Given the description of an element on the screen output the (x, y) to click on. 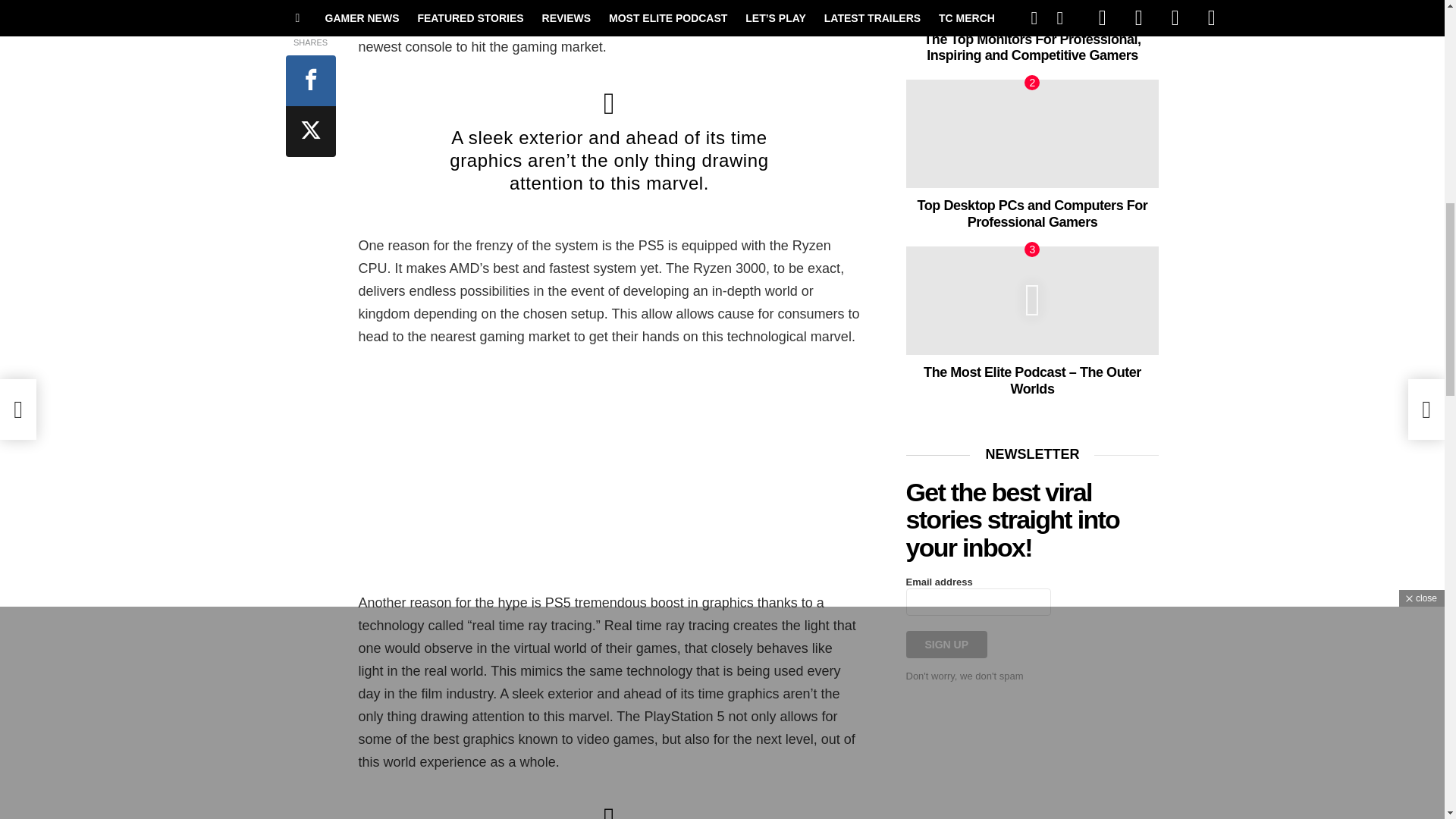
Advertisement (609, 469)
Top Desktop PCs and Computers For Professional Gamers (1031, 133)
Sign up (946, 644)
